Given the description of an element on the screen output the (x, y) to click on. 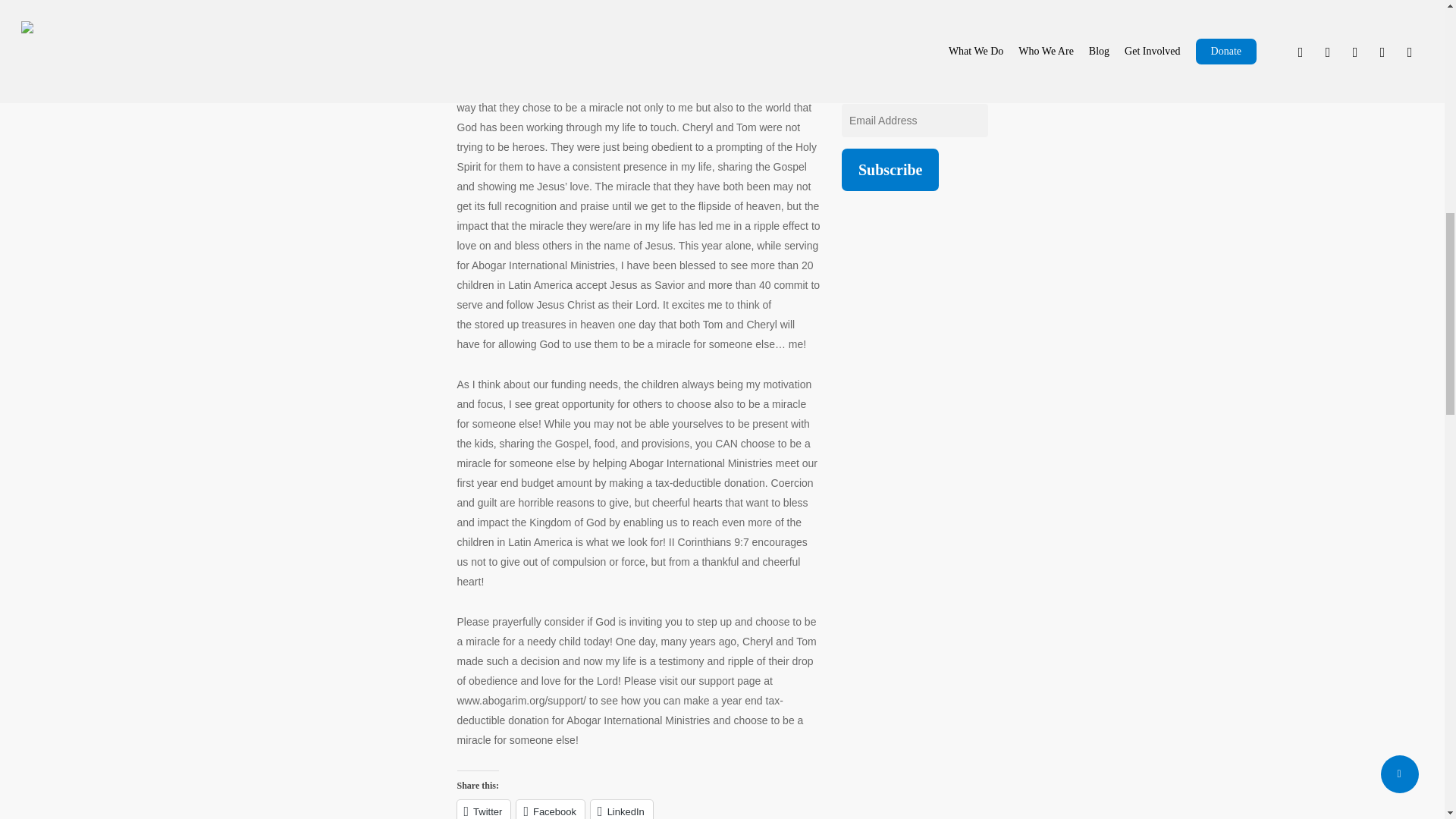
LinkedIn (415, 232)
Jesse Rivers (301, 387)
Click to share on LinkedIn (415, 232)
Twitter (277, 232)
Click to share on Facebook (344, 232)
Facebook (344, 232)
Click to share on Twitter (277, 232)
